Given the description of an element on the screen output the (x, y) to click on. 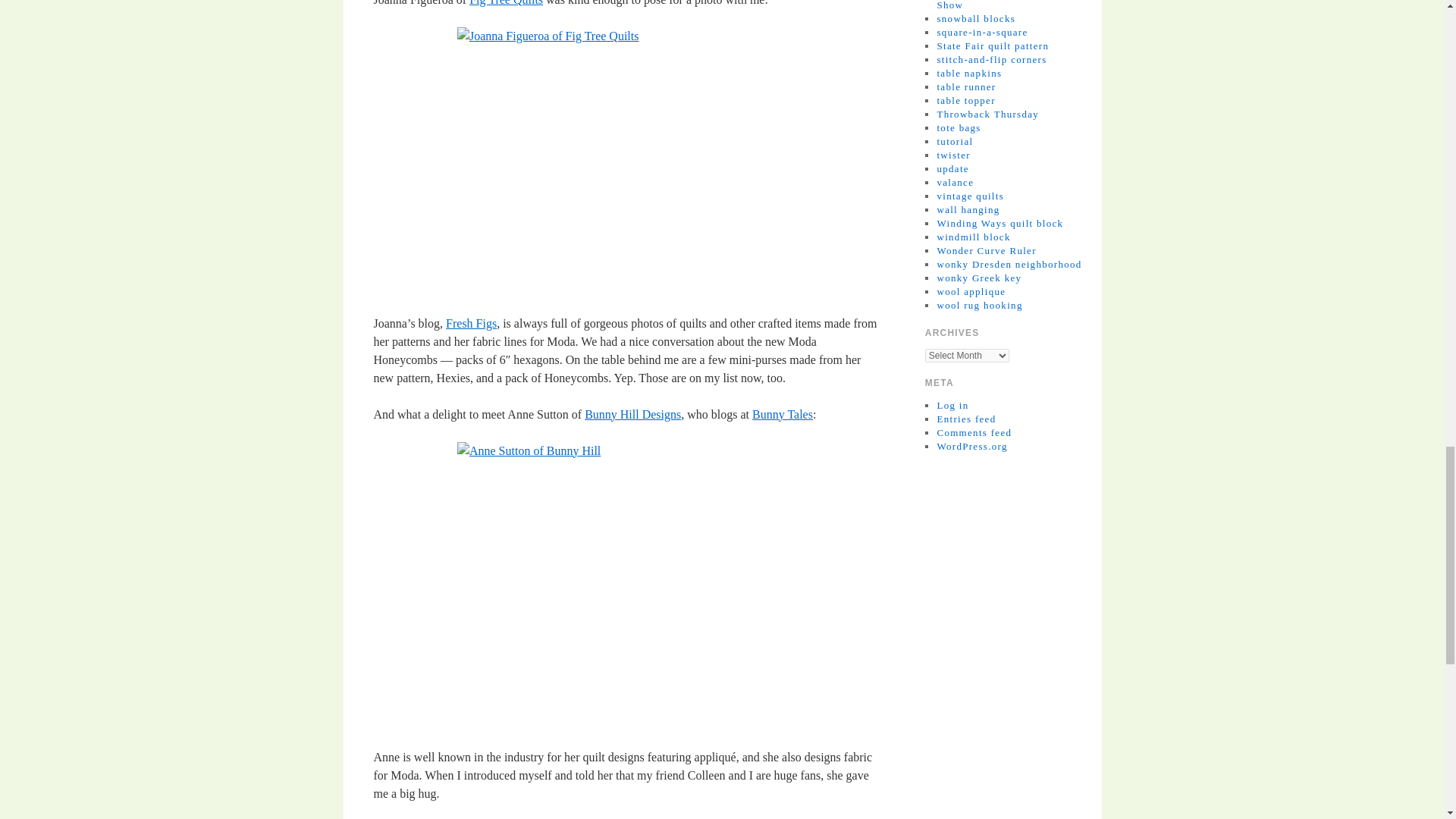
Bunny Hill Designs (633, 413)
Fig Tree Quilts (505, 2)
Bunny Tales (782, 413)
Fresh Figs (470, 323)
